Given the description of an element on the screen output the (x, y) to click on. 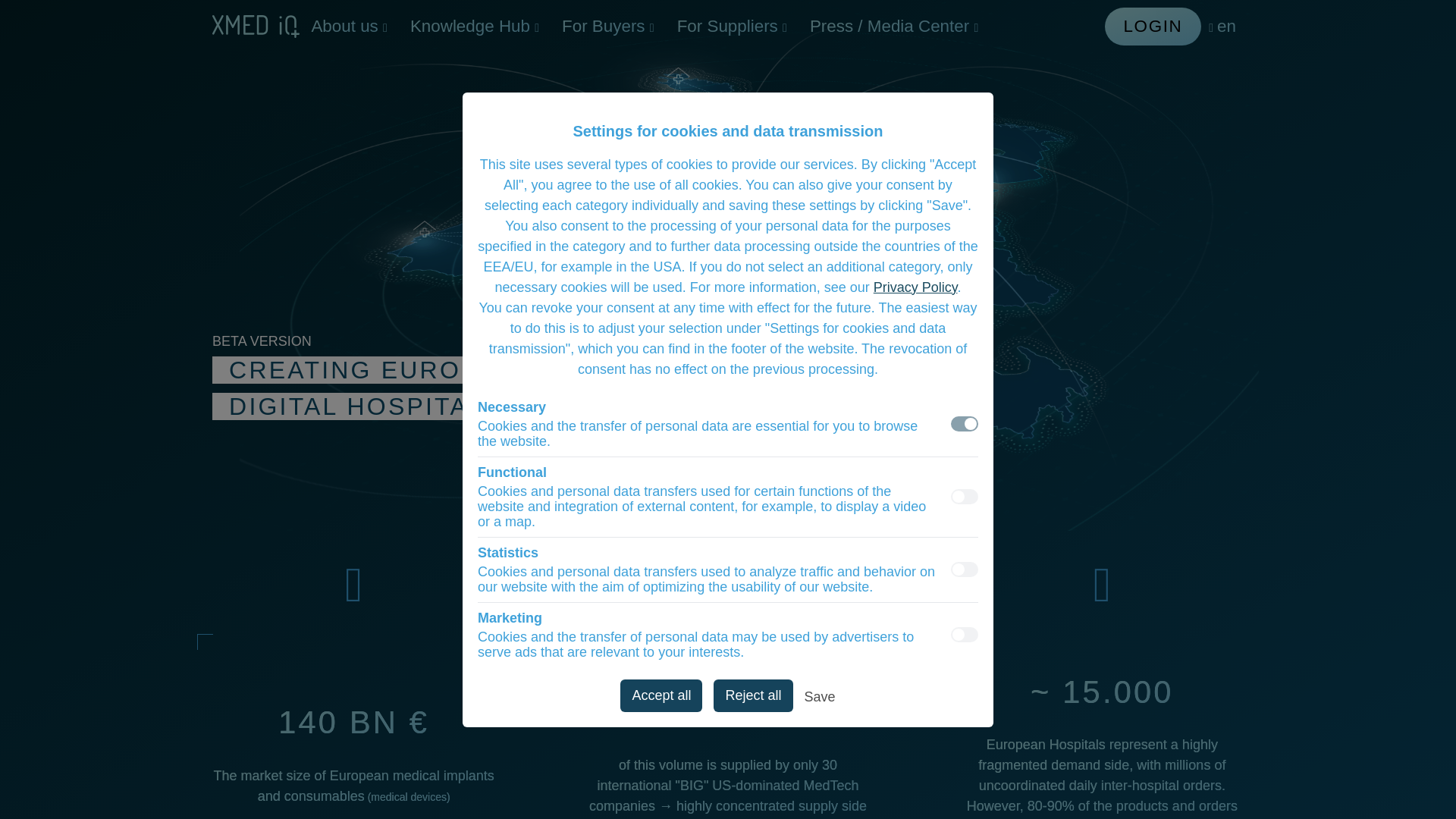
Privacy Policy (915, 286)
Save (820, 699)
About us (348, 26)
Knowledge Hub (474, 26)
Accept all (660, 695)
For Suppliers (731, 26)
on (964, 423)
on (964, 569)
on (964, 496)
on (964, 634)
